Given the description of an element on the screen output the (x, y) to click on. 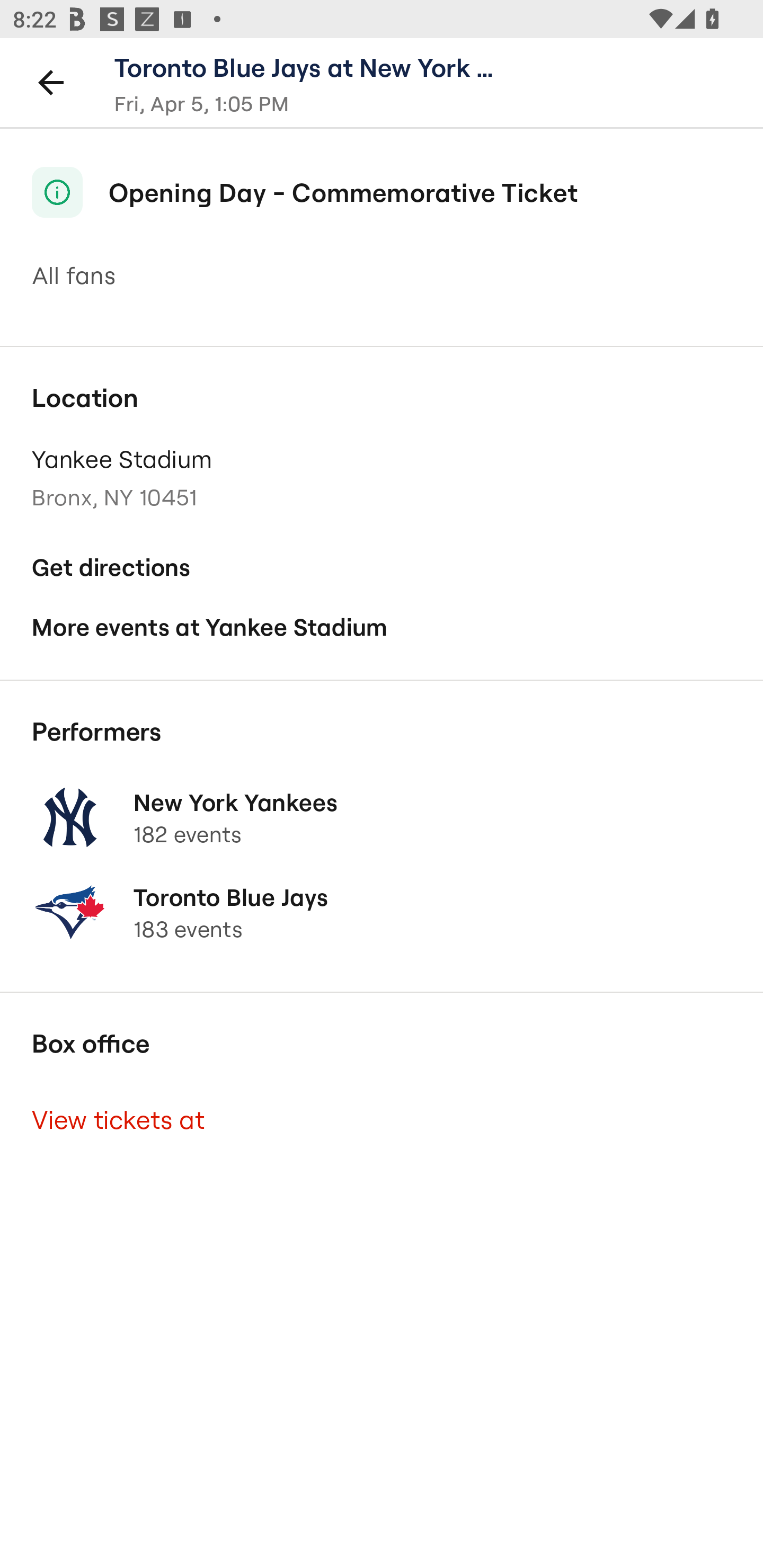
Back (50, 81)
Get directions (381, 567)
More events at Yankee Stadium (381, 626)
New York Yankees 182 events (381, 817)
Toronto Blue Jays 183 events (381, 912)
View tickets at  (381, 1119)
